Given the description of an element on the screen output the (x, y) to click on. 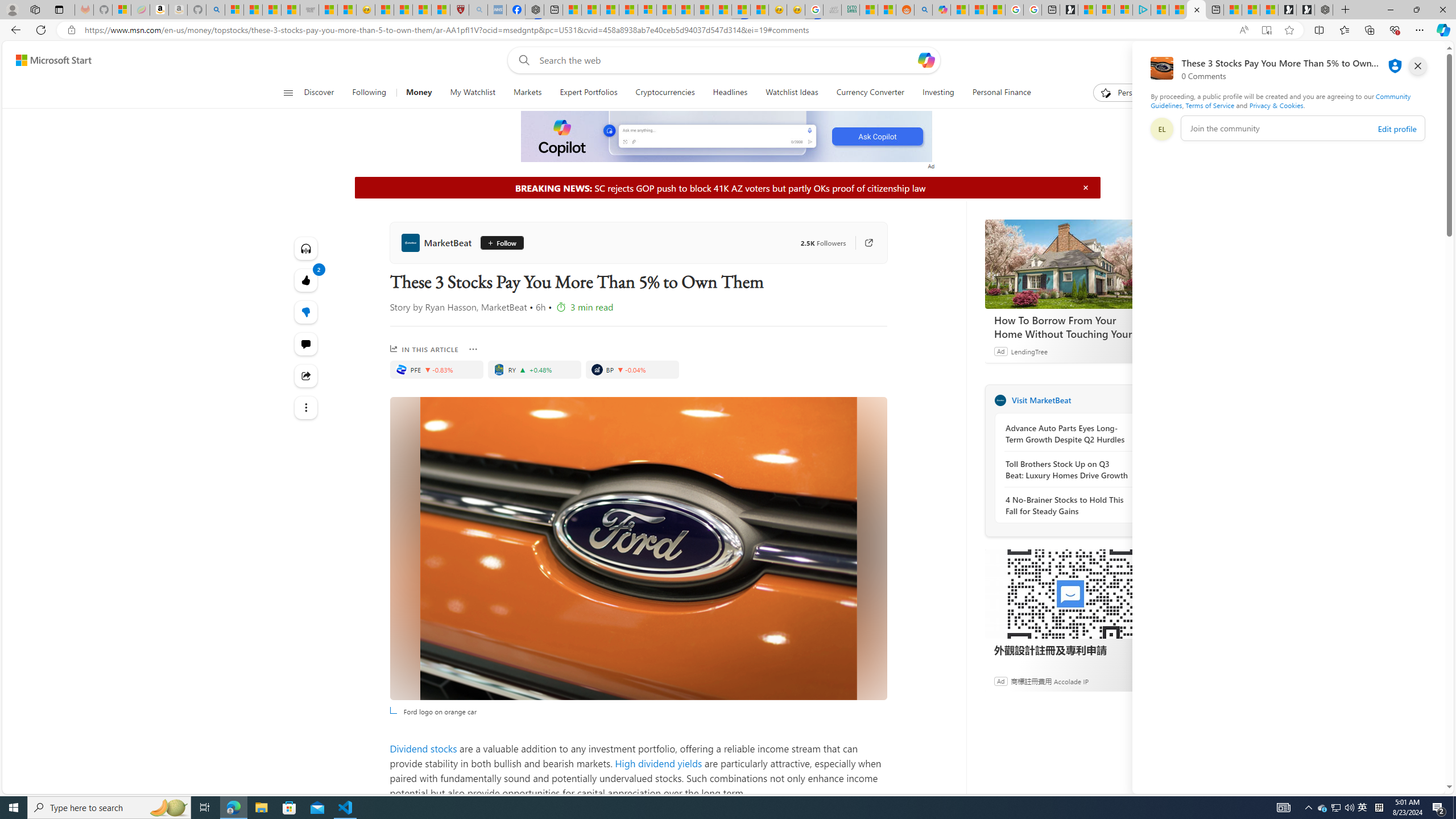
Dividend stocks (423, 748)
Investing (937, 92)
